Given the description of an element on the screen output the (x, y) to click on. 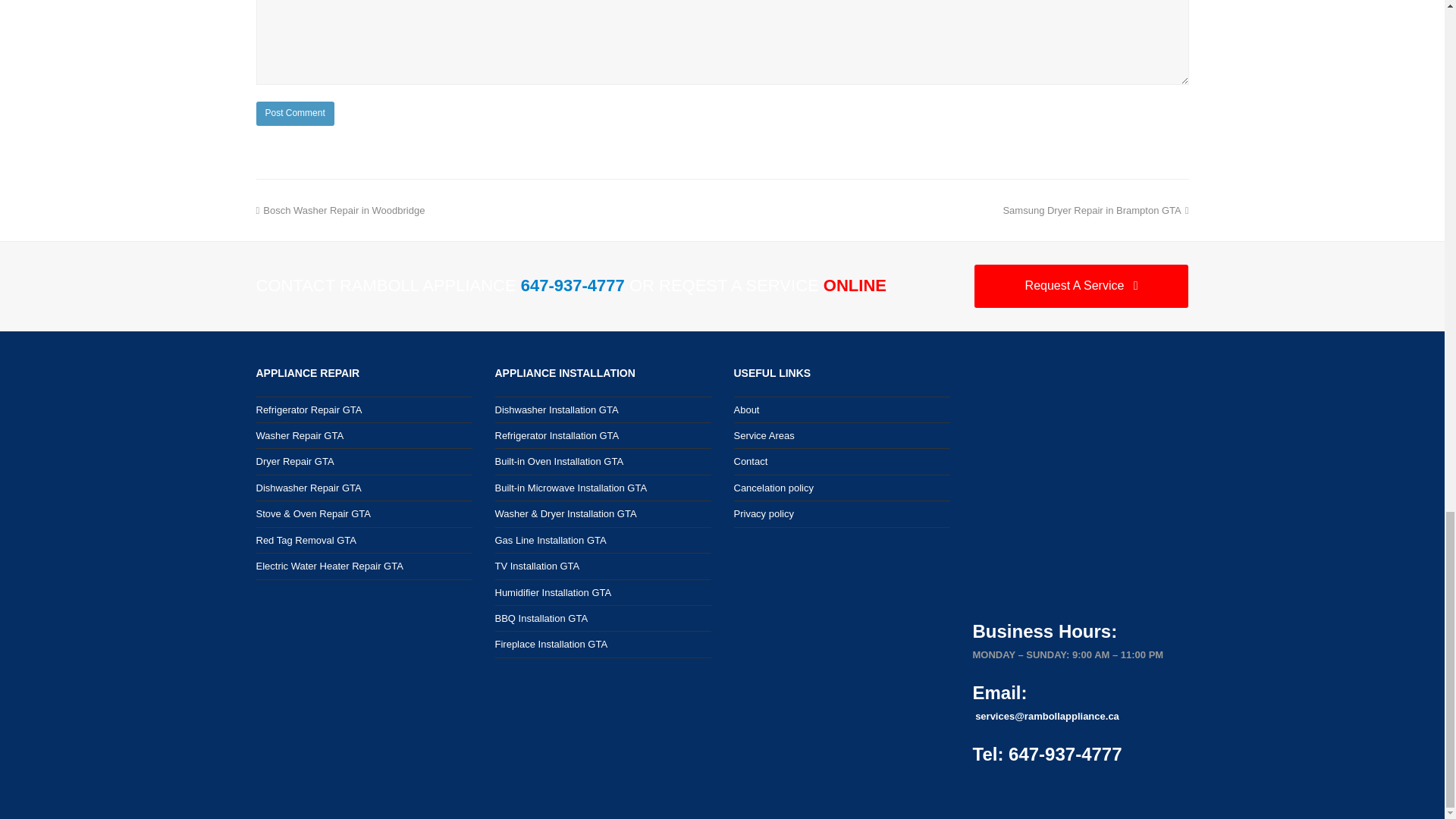
Post Comment (295, 113)
